Given the description of an element on the screen output the (x, y) to click on. 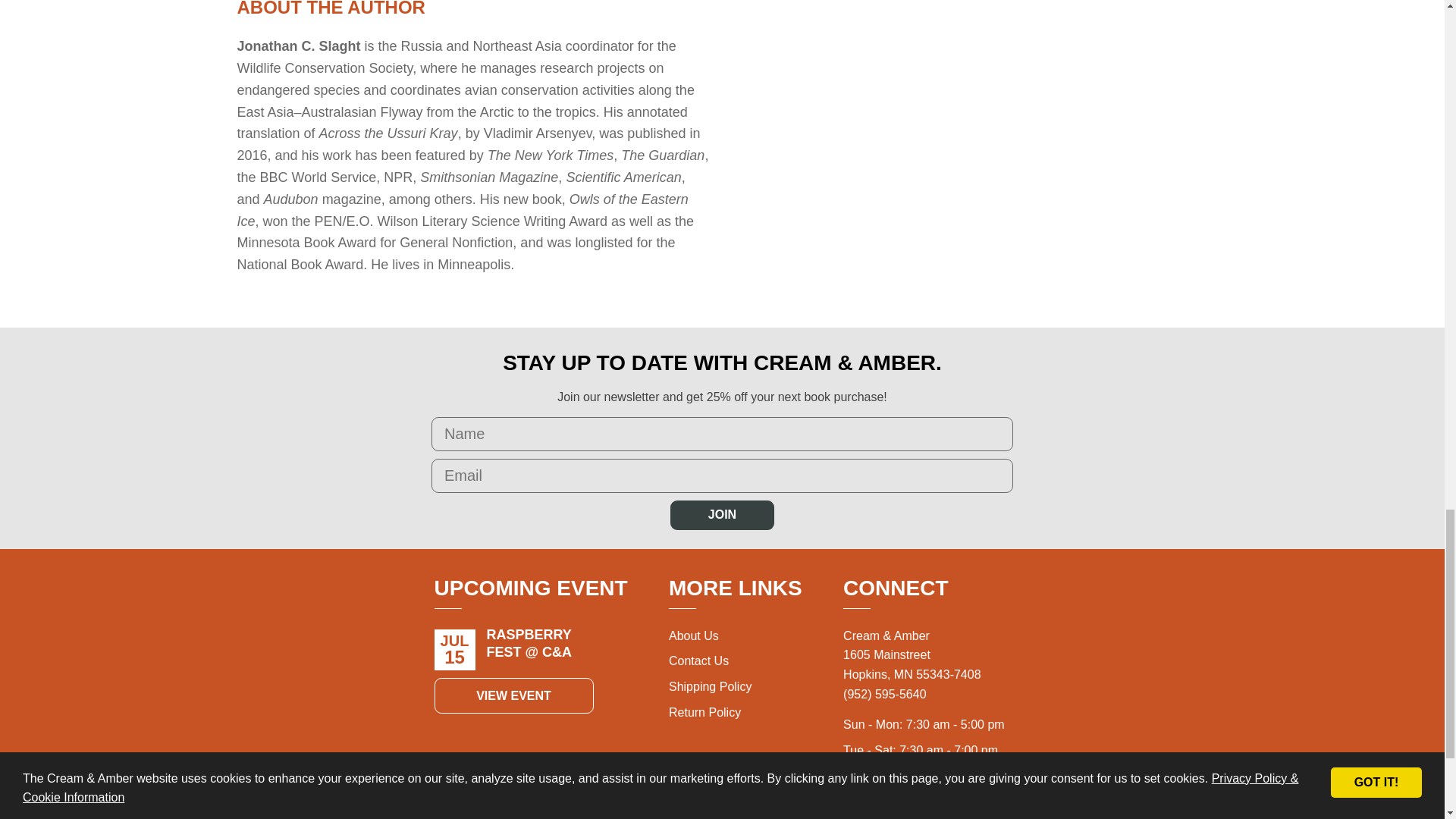
Connect with Facebook (943, 812)
Contact Us (698, 660)
Return Policy (704, 712)
Join (721, 514)
About Us (693, 635)
VIEW EVENT (512, 696)
Shipping Policy (709, 686)
Join (721, 514)
Connect with Instagram (909, 812)
